Given the description of an element on the screen output the (x, y) to click on. 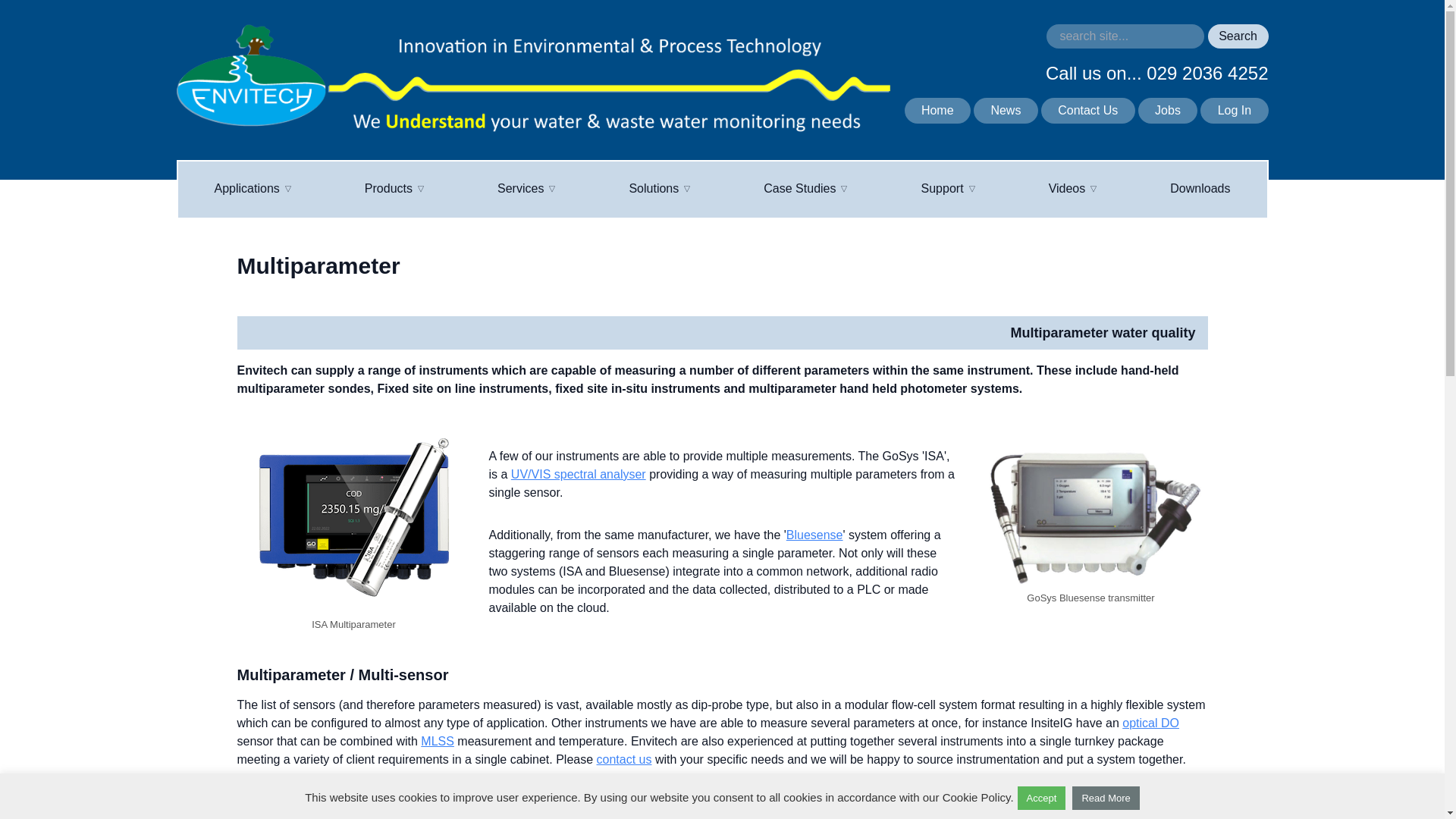
Products (395, 189)
Search (1238, 36)
Search (1238, 36)
News (1005, 110)
Contact Us (1088, 110)
Jobs (1167, 110)
Log In (1233, 110)
Applications (252, 189)
Home (937, 110)
